Given the description of an element on the screen output the (x, y) to click on. 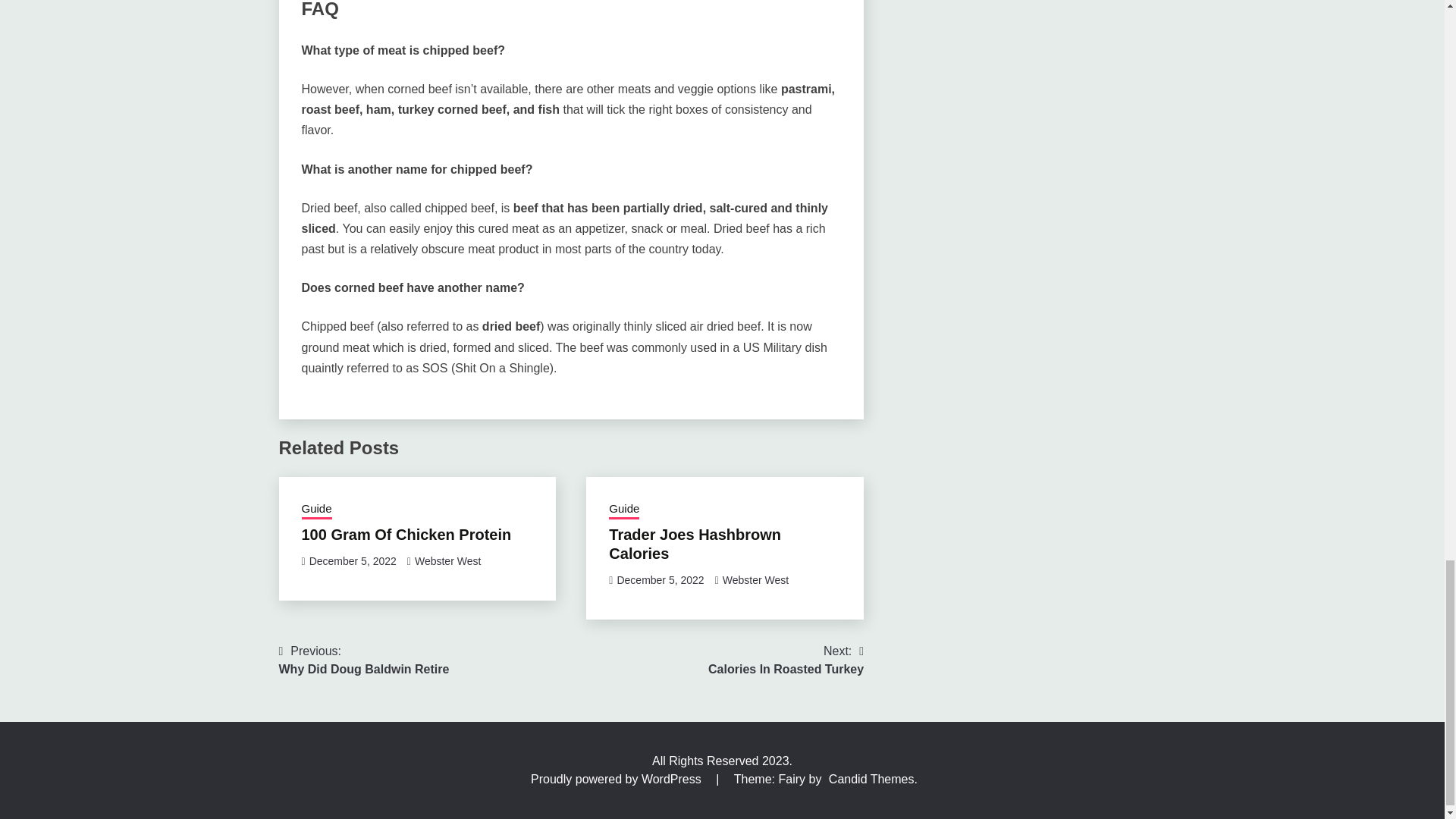
December 5, 2022 (352, 561)
Webster West (364, 660)
Guide (755, 580)
Webster West (316, 510)
Trader Joes Hashbrown Calories (447, 561)
December 5, 2022 (694, 543)
Guide (659, 580)
100 Gram Of Chicken Protein (623, 510)
